Given the description of an element on the screen output the (x, y) to click on. 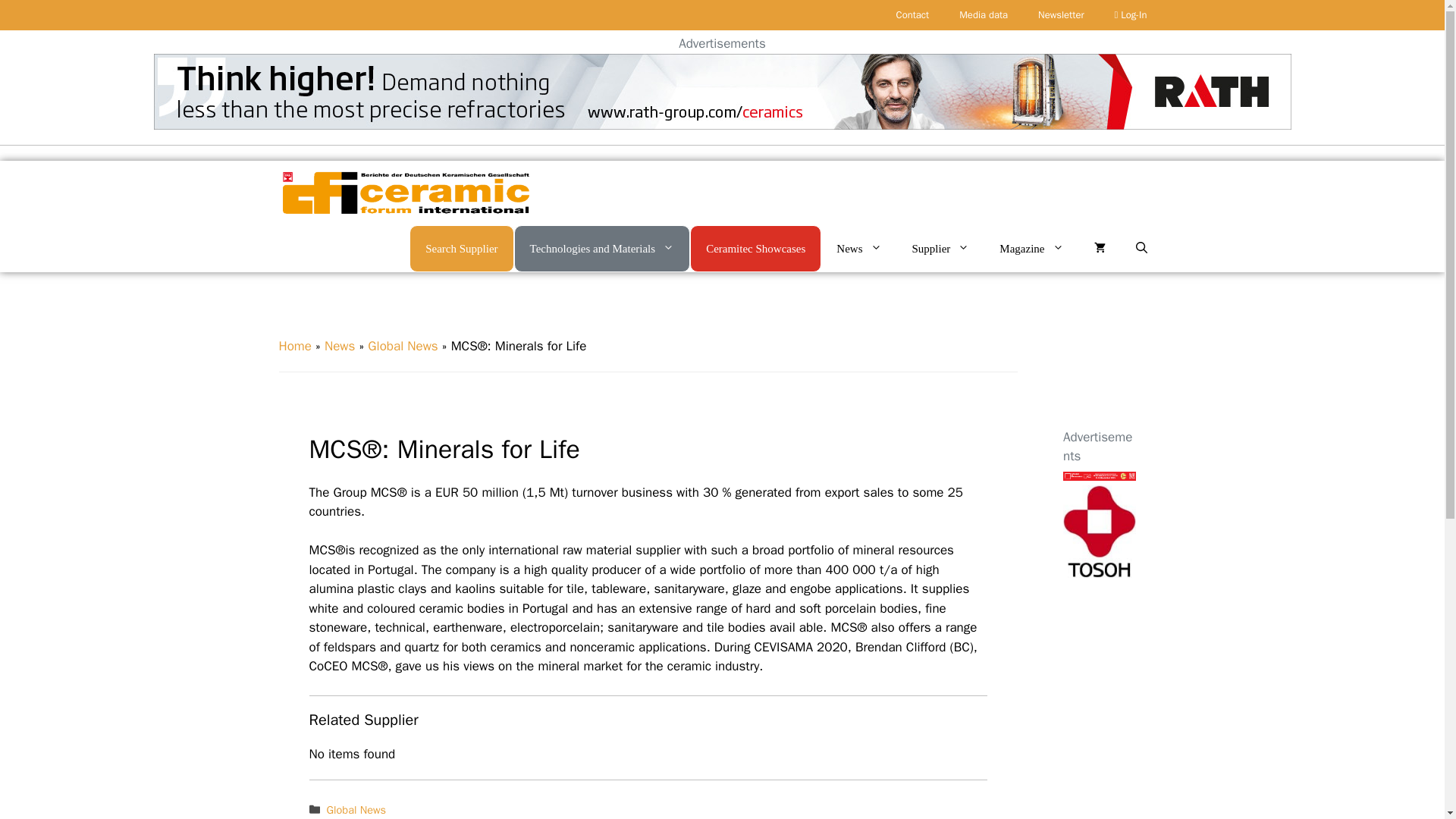
Ceramitec Showcases (755, 247)
Newsletter (1061, 15)
Supplier (940, 248)
Contact (912, 15)
News (858, 248)
Log-In (1130, 15)
Technologies and Materials (601, 247)
View your shopping cart (1098, 248)
Search Supplier (461, 247)
Media data (983, 15)
cfi (405, 192)
